Given the description of an element on the screen output the (x, y) to click on. 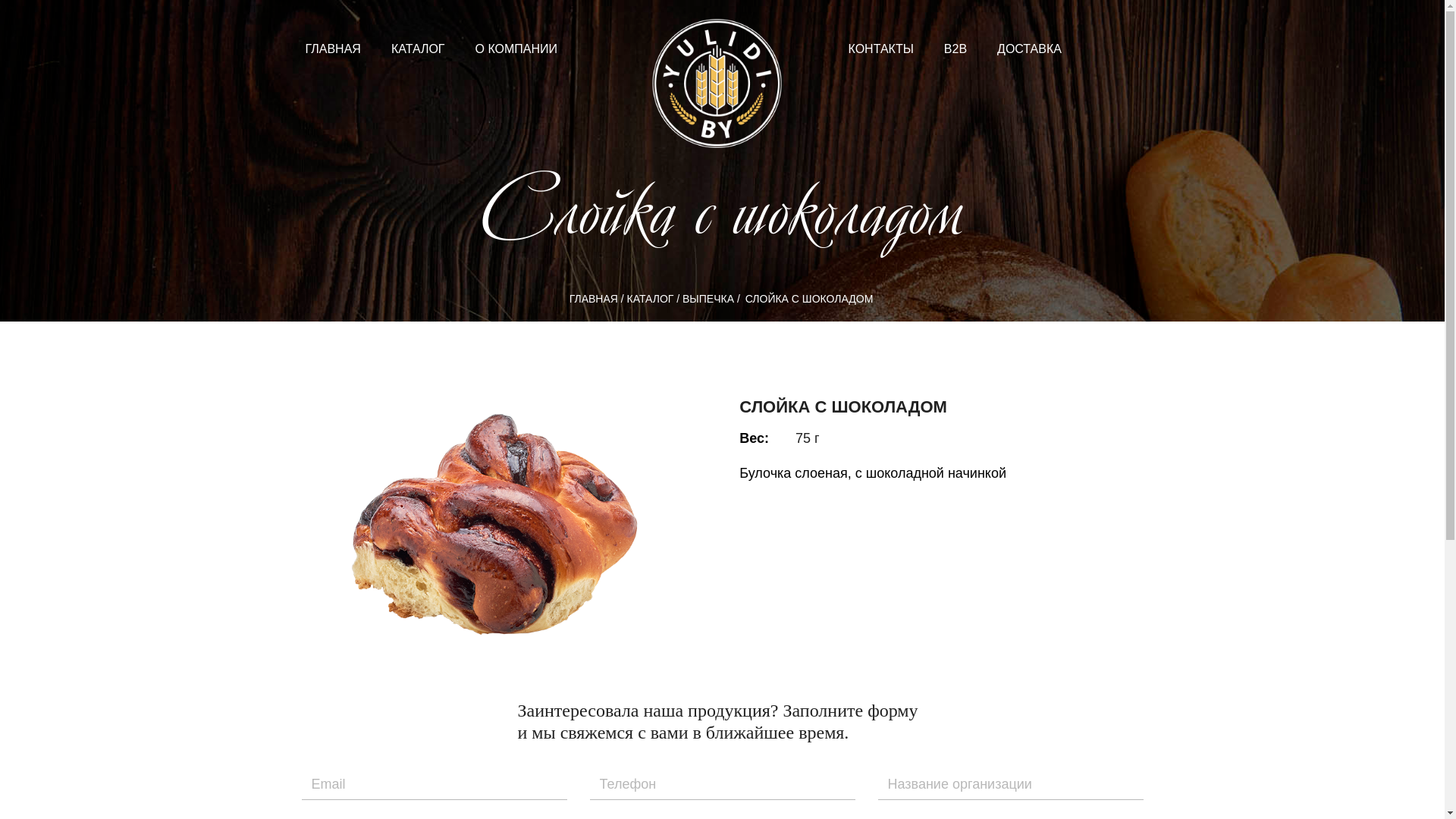
B2B Element type: text (955, 48)
